Given the description of an element on the screen output the (x, y) to click on. 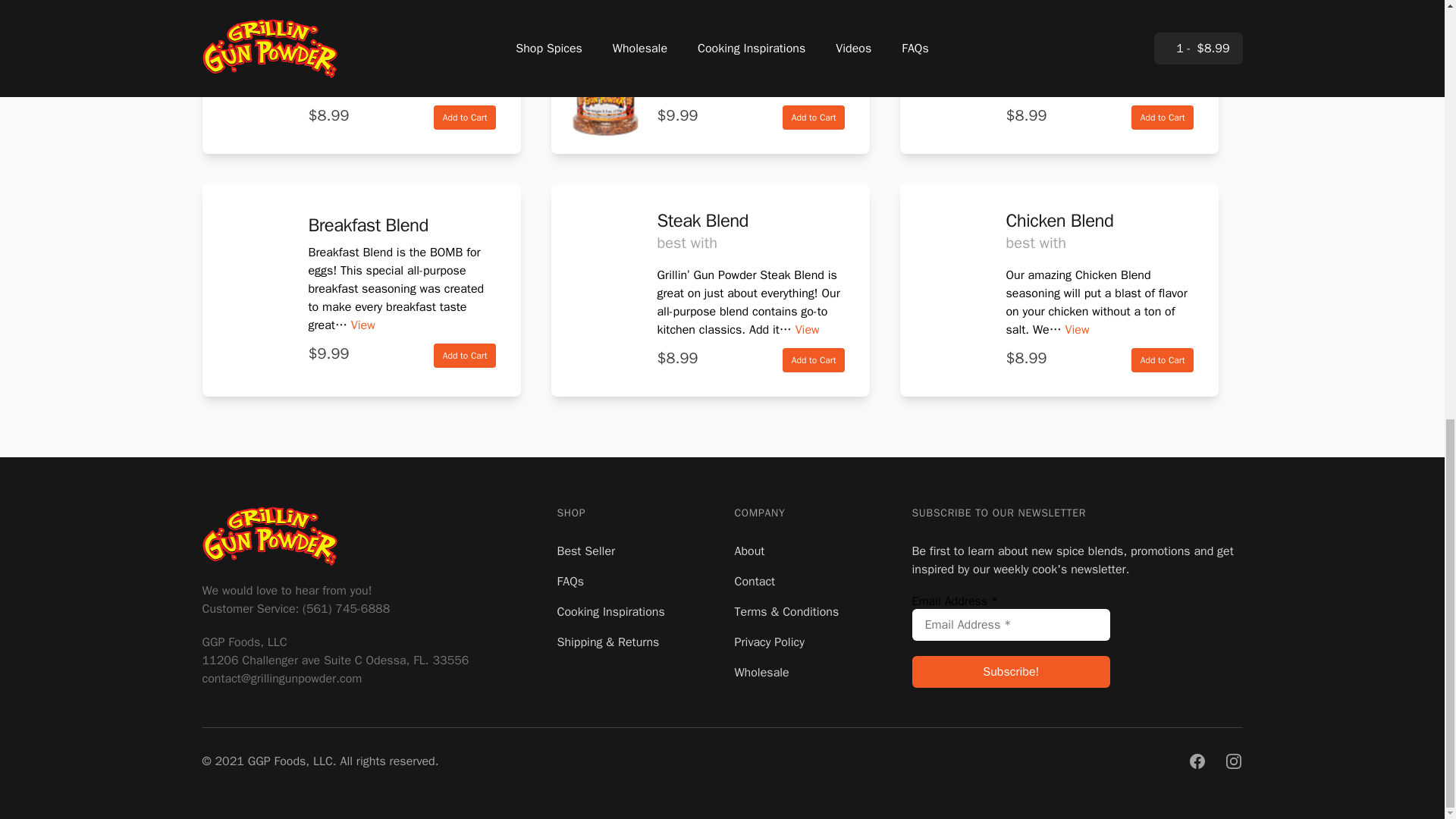
View (461, 87)
Add to Cart (814, 117)
View (362, 324)
View (1153, 87)
Subscribe! (1010, 671)
Add to Cart (464, 355)
Add to Cart (464, 117)
Add to Cart (1162, 117)
Breakfast Blend (367, 224)
View (798, 87)
